Given the description of an element on the screen output the (x, y) to click on. 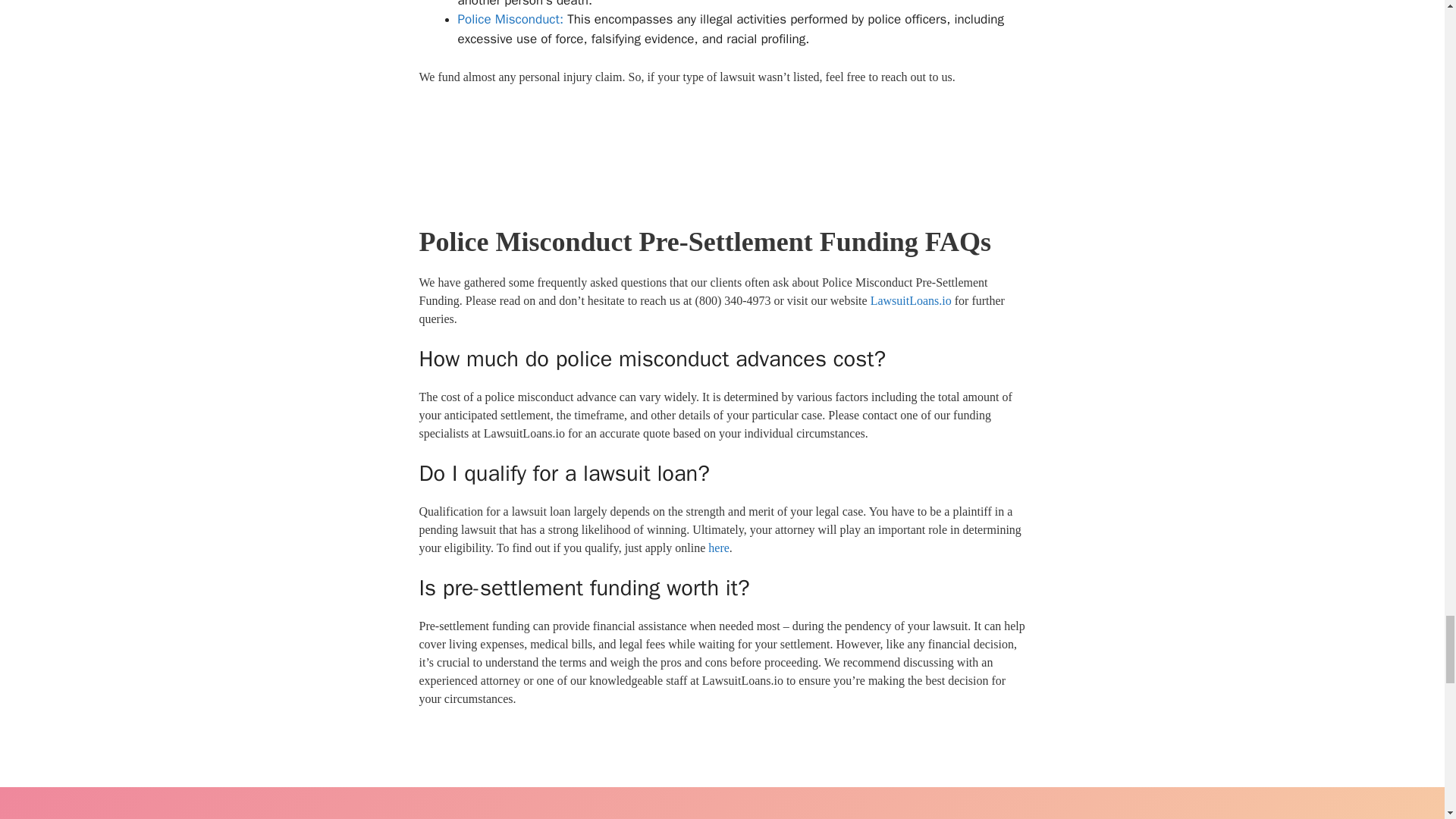
here (718, 547)
Police Misconduct: (511, 19)
LawsuitLoans.io (911, 300)
